Given the description of an element on the screen output the (x, y) to click on. 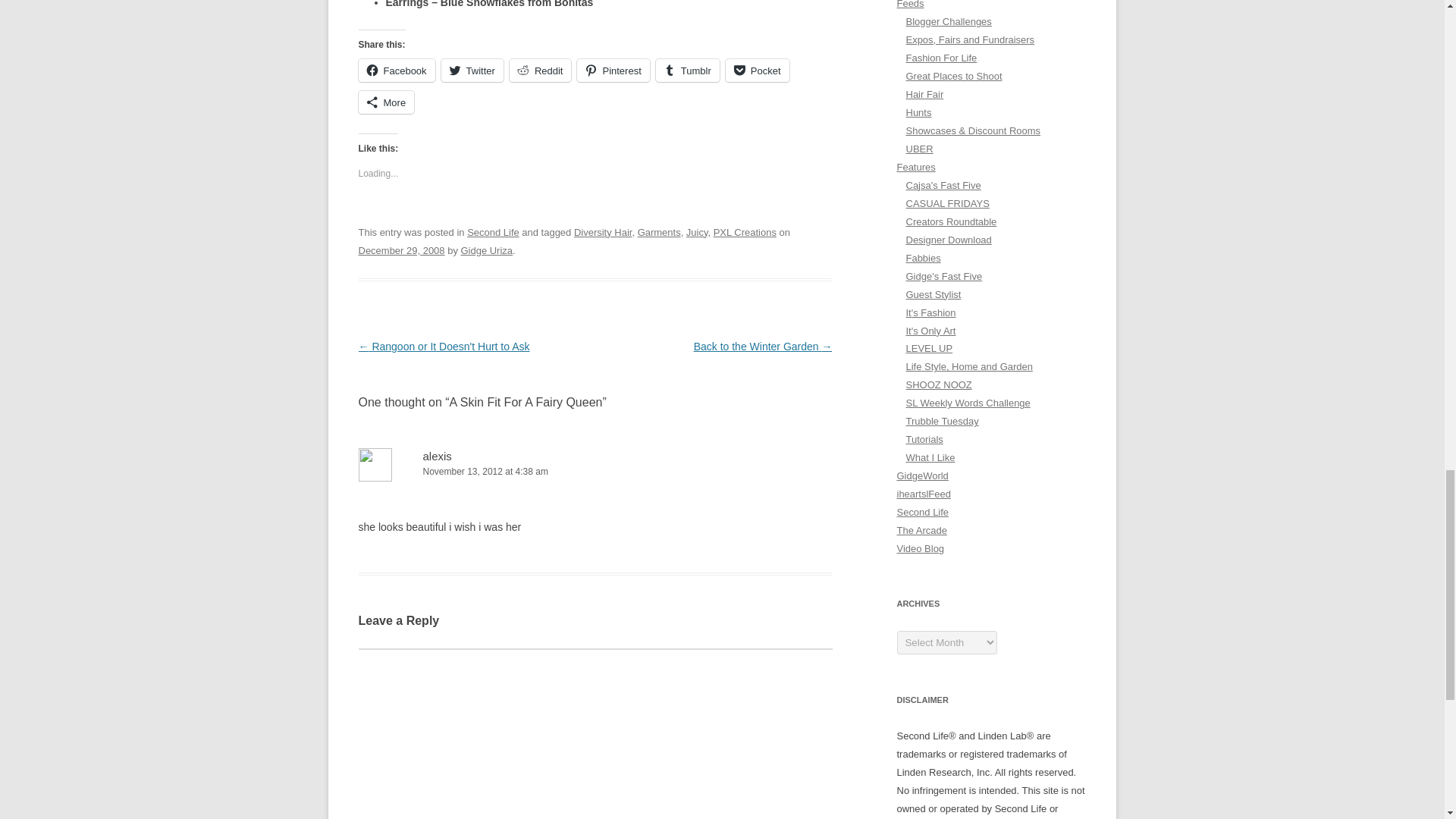
November 13, 2012 at 4:38 am (594, 471)
View all posts by Gidge Uriza (486, 250)
Reddit (540, 69)
Diversity Hair (602, 232)
Garments (659, 232)
alexis (437, 455)
Second Life (493, 232)
Juicy (696, 232)
Comment Form (594, 733)
Click to share on Facebook (395, 69)
